Given the description of an element on the screen output the (x, y) to click on. 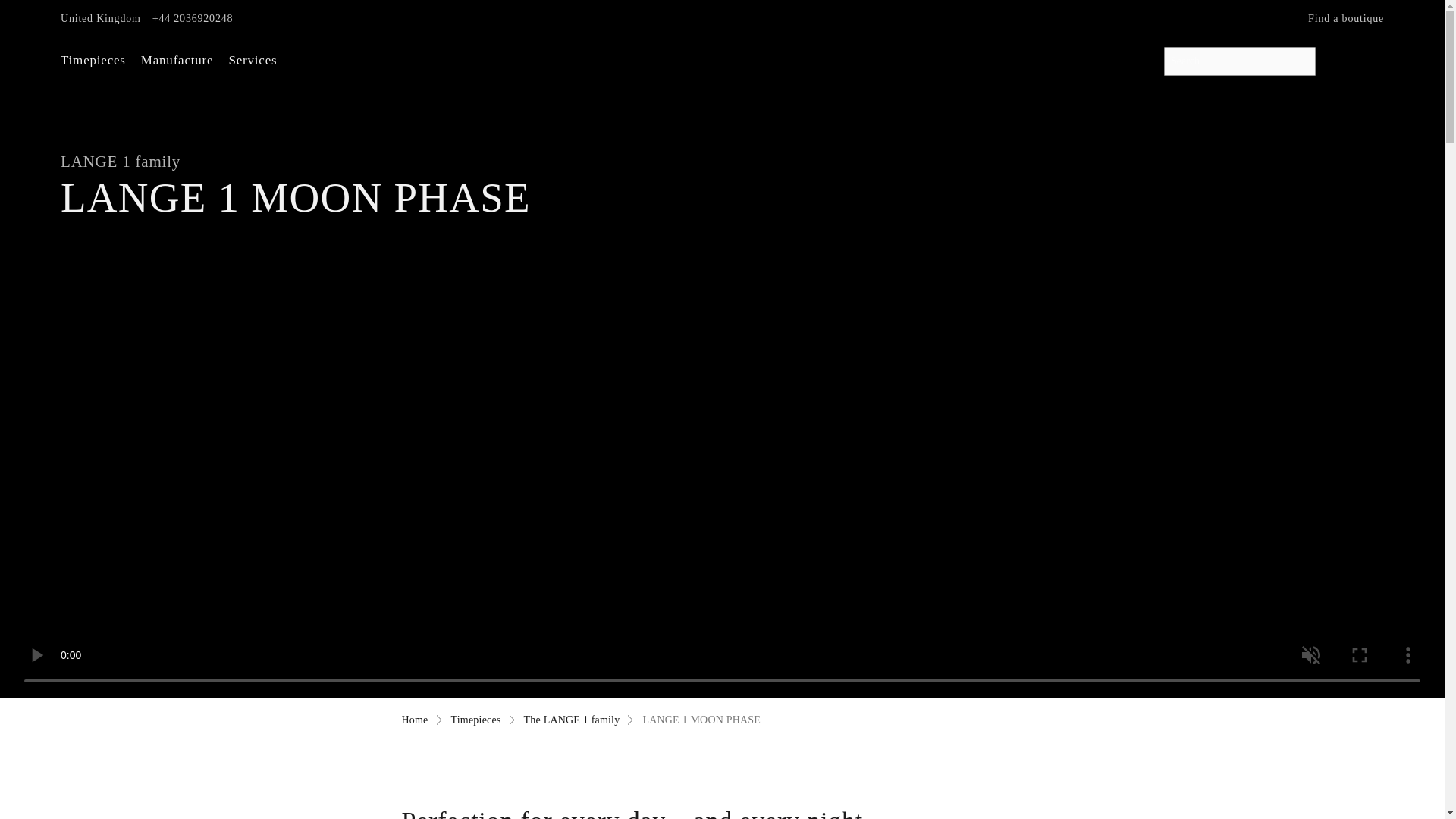
Select your location (100, 19)
Account (1337, 60)
Back to homepage (722, 49)
Find a boutique (1345, 19)
Back to the homepage (414, 719)
